Given the description of an element on the screen output the (x, y) to click on. 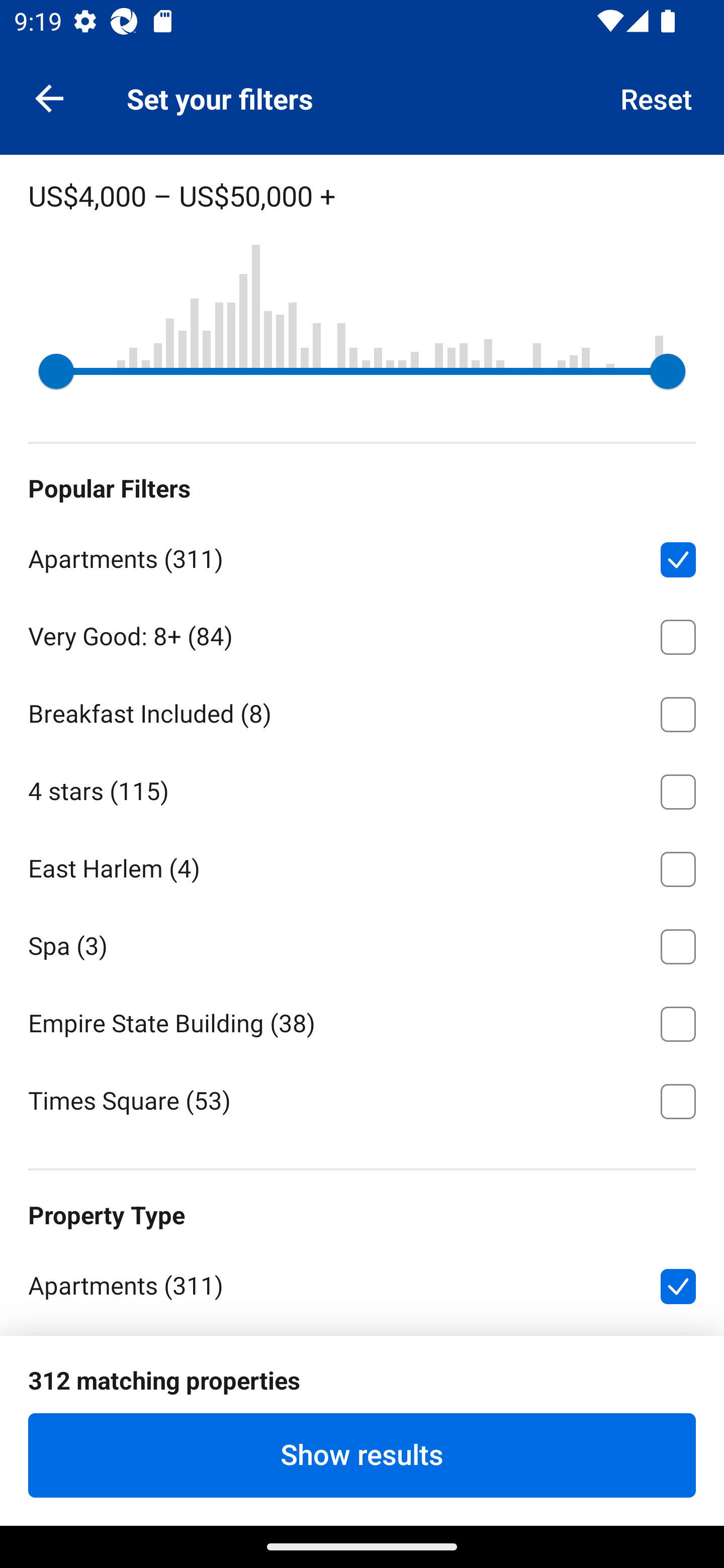
Navigate up (49, 97)
Reset (656, 97)
Apartments ⁦(311) (361, 555)
Very Good: 8+ ⁦(84) (361, 633)
Breakfast Included ⁦(8) (361, 710)
4 stars ⁦(115) (361, 788)
East Harlem ⁦(4) (361, 865)
Spa ⁦(3) (361, 942)
Empire State Building ⁦(38) (361, 1020)
Times Square ⁦(53) (361, 1099)
Apartments ⁦(311) (361, 1282)
Show results (361, 1454)
